Given the description of an element on the screen output the (x, y) to click on. 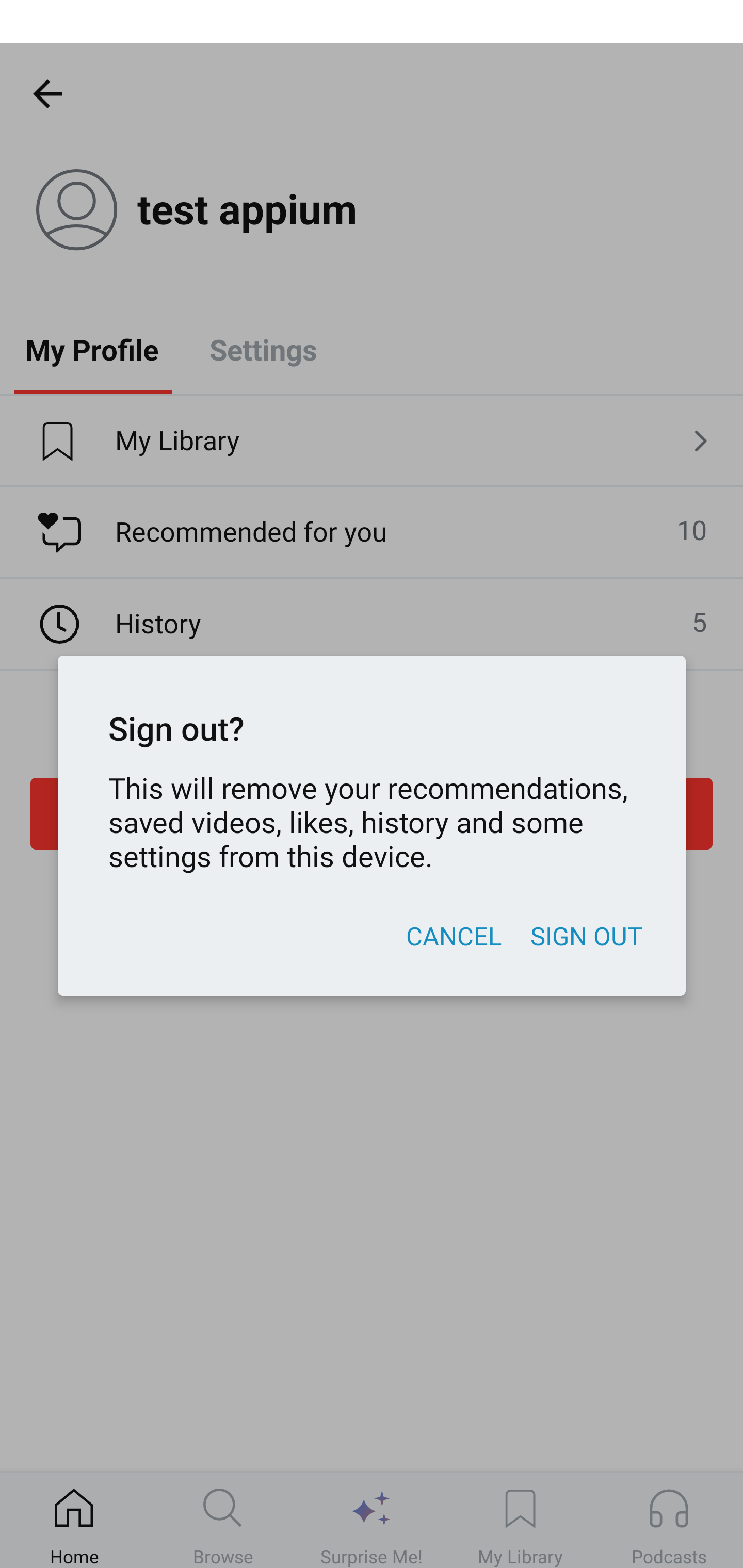
CANCEL (453, 935)
SIGN OUT (585, 935)
